Given the description of an element on the screen output the (x, y) to click on. 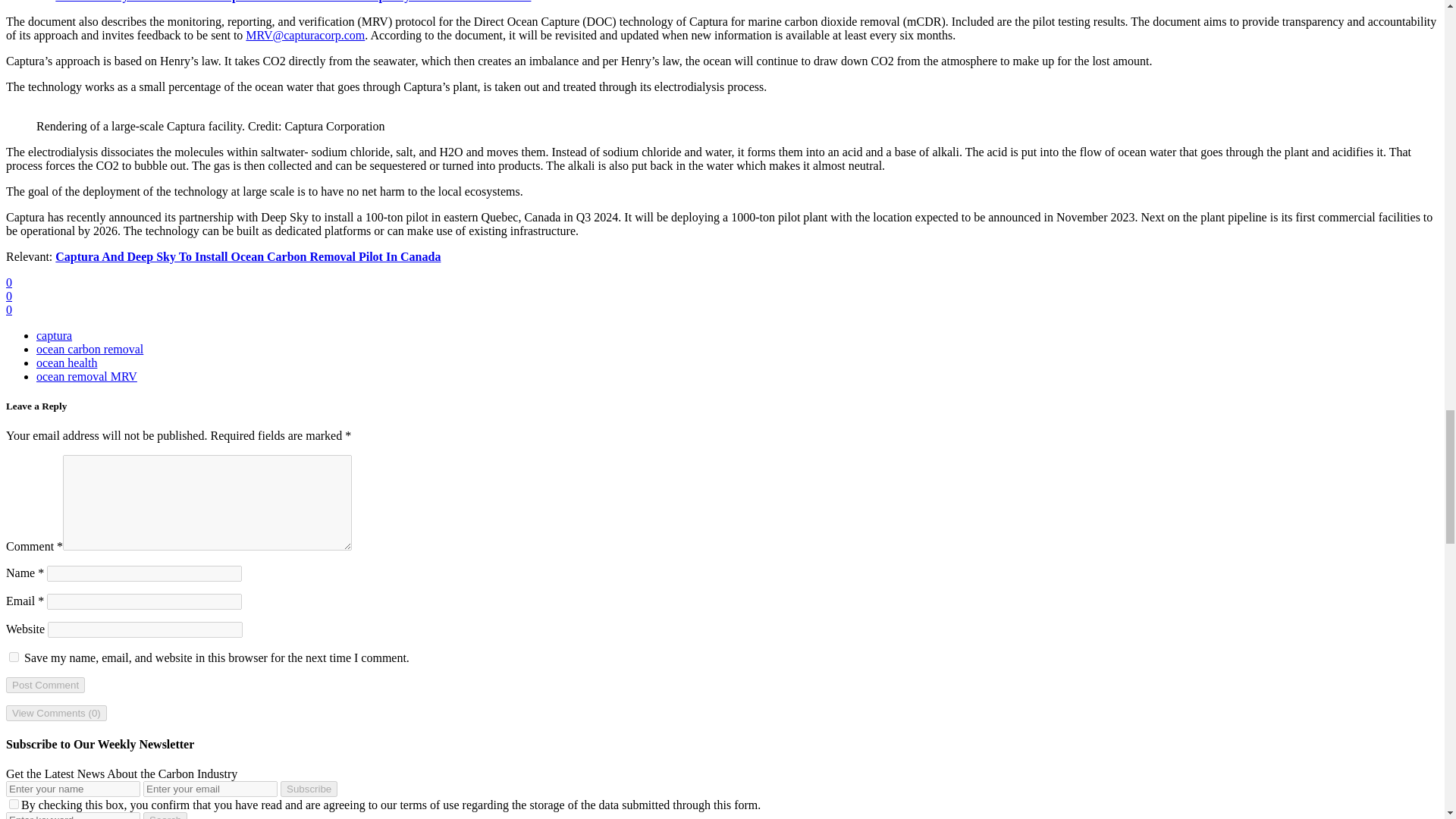
Post Comment (44, 684)
on (13, 804)
yes (13, 656)
